Given the description of an element on the screen output the (x, y) to click on. 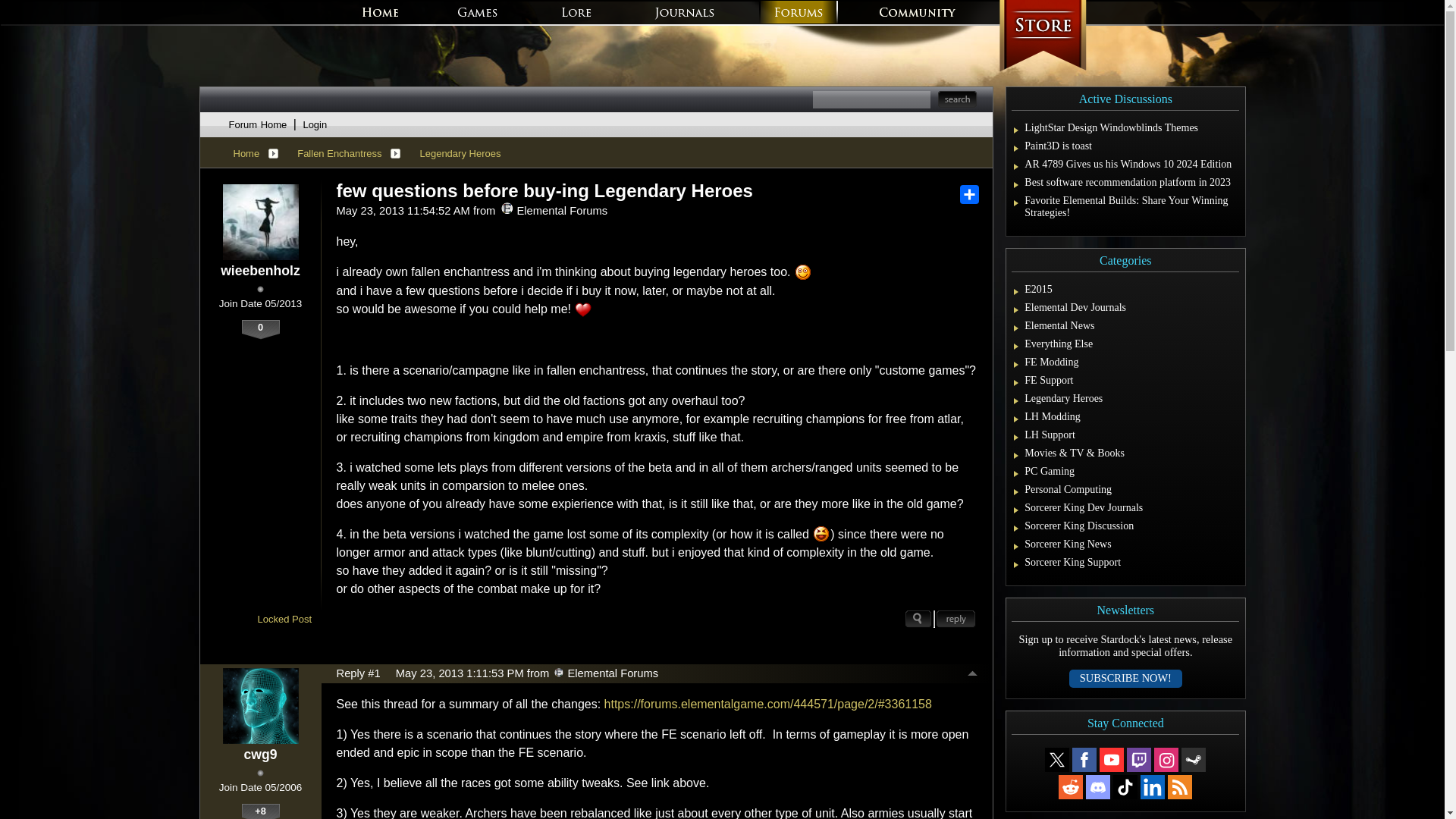
Click user name to view more options. (259, 754)
Rank: 1 (260, 772)
Click user name to view more options. (260, 270)
View cwg9's Karma (260, 811)
Elemental Forums (506, 208)
Reply to this post (955, 619)
Rank: 1 (260, 288)
Elemental Forums (558, 672)
View wieebenholz's Karma (260, 329)
Search this post (918, 619)
